Given the description of an element on the screen output the (x, y) to click on. 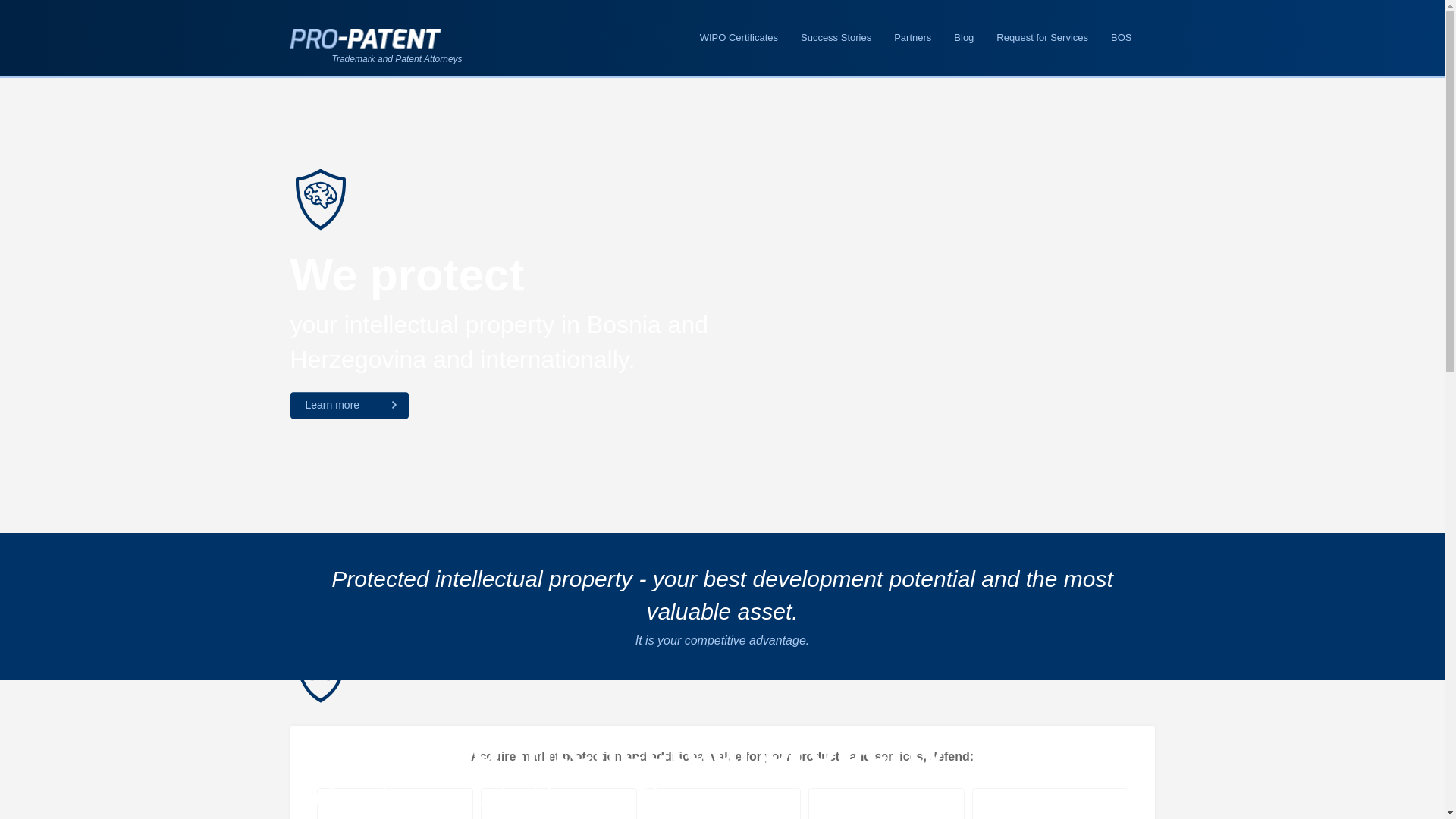
Trademark and Patent Attorneys Element type: text (366, 37)
BOS Element type: text (1120, 37)
Blog Element type: text (963, 37)
Learn more Element type: text (348, 405)
Request for Services Element type: text (1042, 37)
Partners Element type: text (912, 37)
Success Stories Element type: text (835, 37)
WIPO Certificates Element type: text (738, 37)
